Given the description of an element on the screen output the (x, y) to click on. 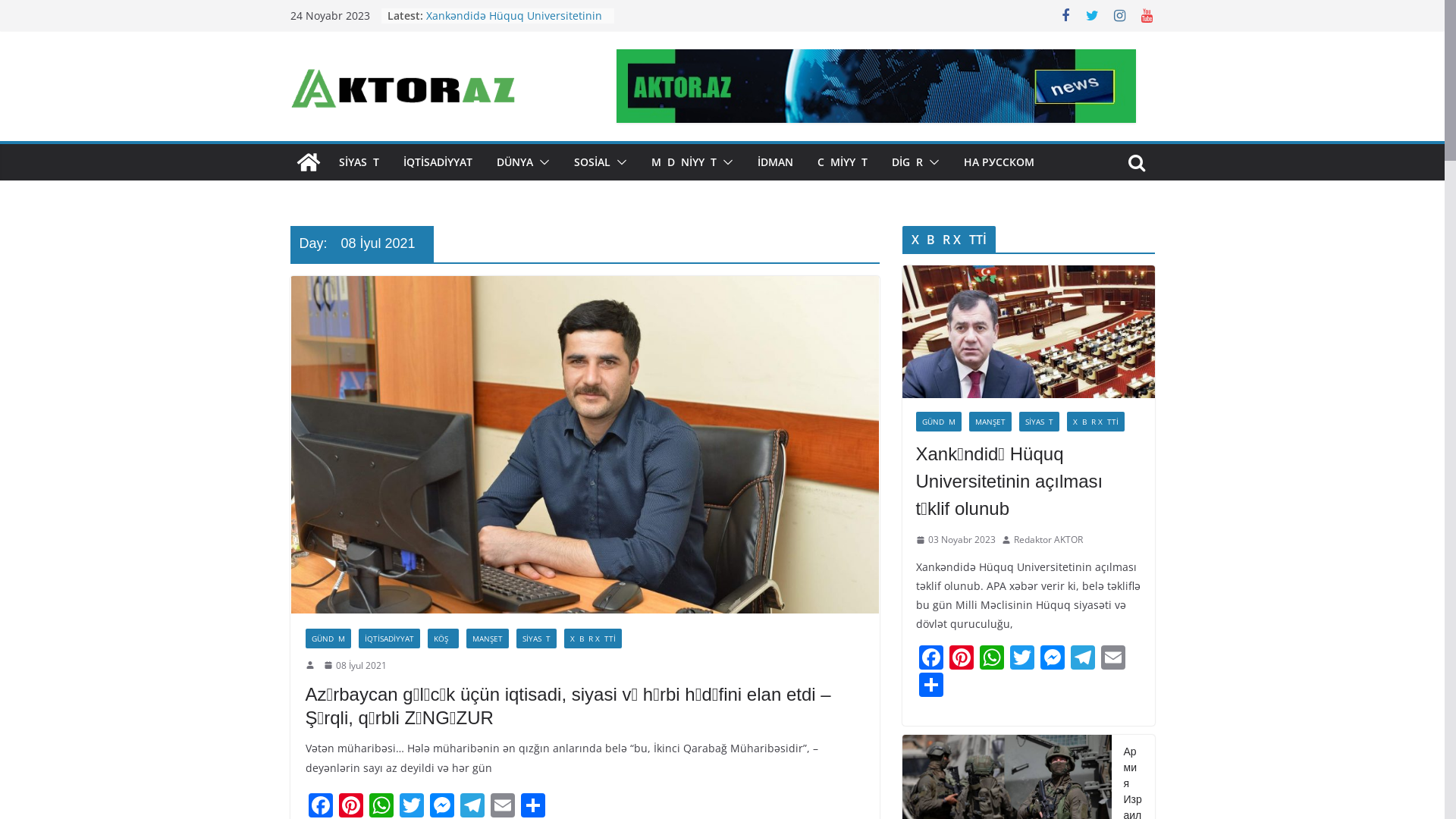
WhatsApp Element type: text (991, 658)
AKTOR.az Element type: hover (307, 162)
Facebook Element type: text (931, 658)
Pinterest Element type: text (961, 658)
SOSIAL Element type: text (591, 161)
Messenger Element type: text (1052, 658)
Email Element type: text (1113, 658)
03 Noyabr 2023 Element type: text (955, 539)
Twitter Element type: text (1022, 658)
Telegram Element type: text (1082, 658)
Share Element type: text (931, 685)
Redaktor AKTOR Element type: text (1047, 539)
